Given the description of an element on the screen output the (x, y) to click on. 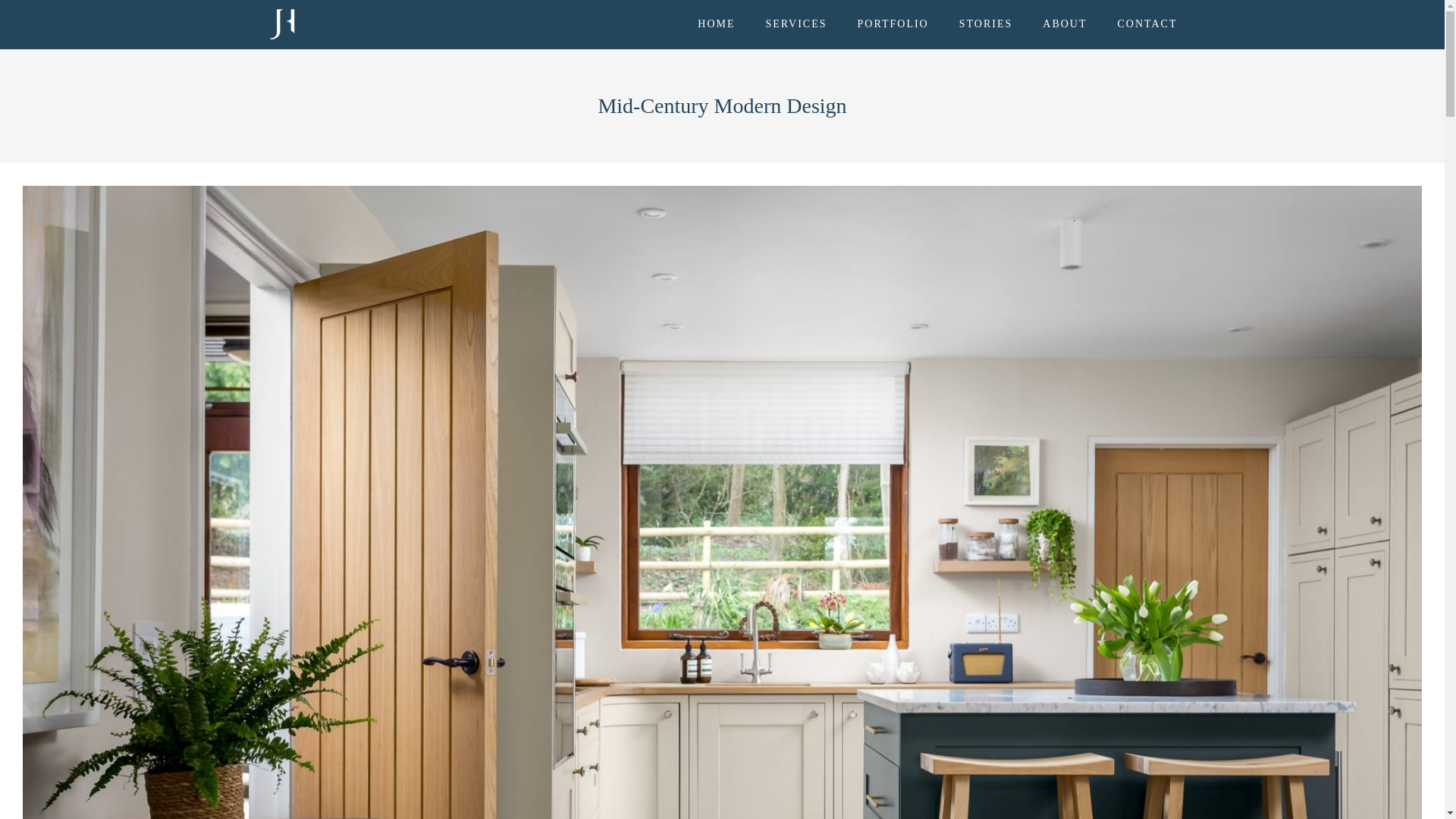
CONTACT (1147, 24)
ABOUT (1064, 24)
PORTFOLIO (892, 24)
HOME (716, 24)
SERVICES (796, 24)
STORIES (986, 24)
